Given the description of an element on the screen output the (x, y) to click on. 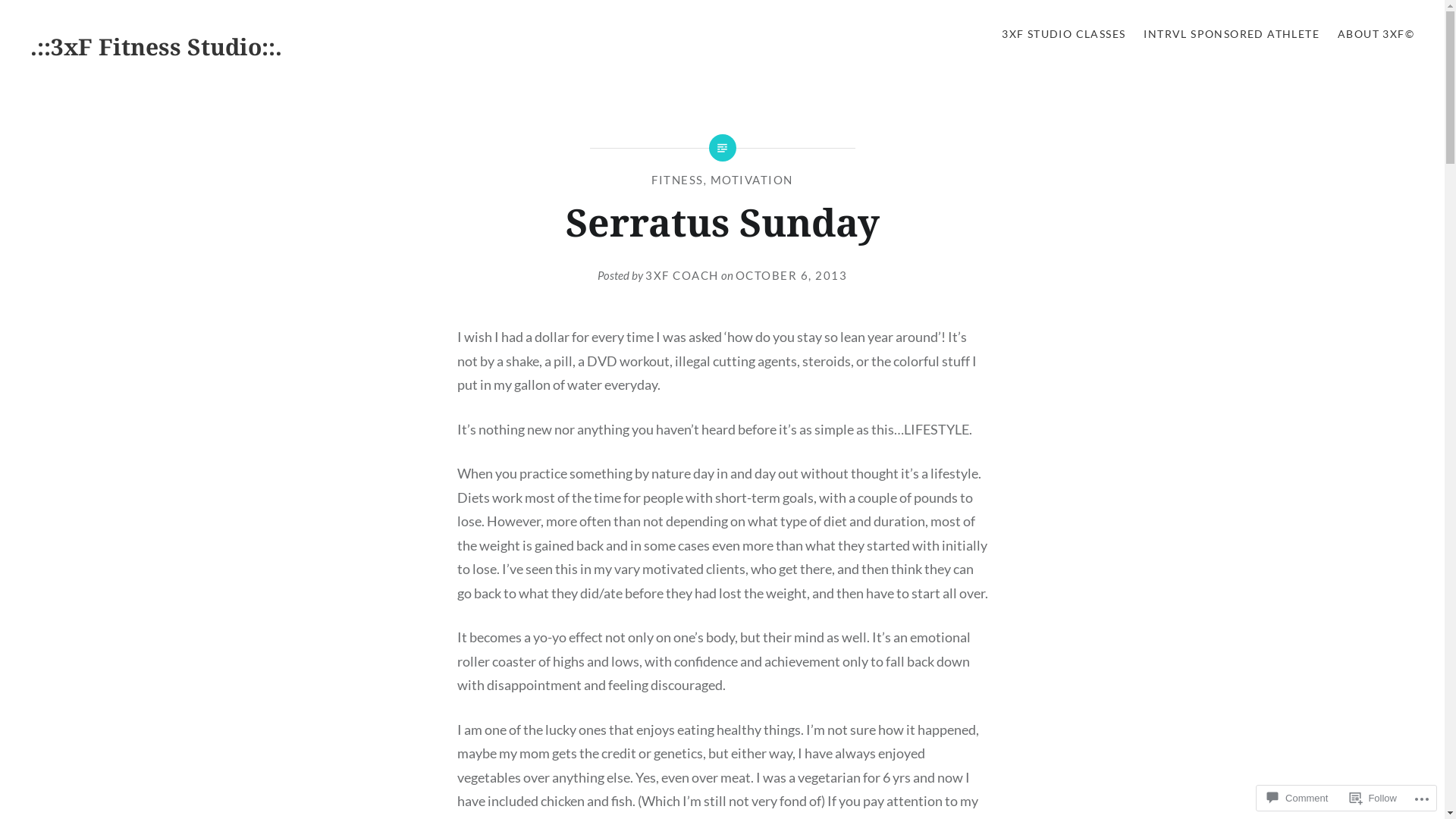
3XF STUDIO CLASSES Element type: text (1063, 34)
.::3xF Fitness Studio::. Element type: text (156, 46)
MOTIVATION Element type: text (751, 179)
3XF COACH Element type: text (681, 275)
Follow Element type: text (1372, 797)
Comment Element type: text (1297, 797)
OCTOBER 6, 2013 Element type: text (791, 275)
INTRVL SPONSORED ATHLETE Element type: text (1231, 34)
FITNESS Element type: text (677, 179)
Search Element type: text (141, 19)
